Given the description of an element on the screen output the (x, y) to click on. 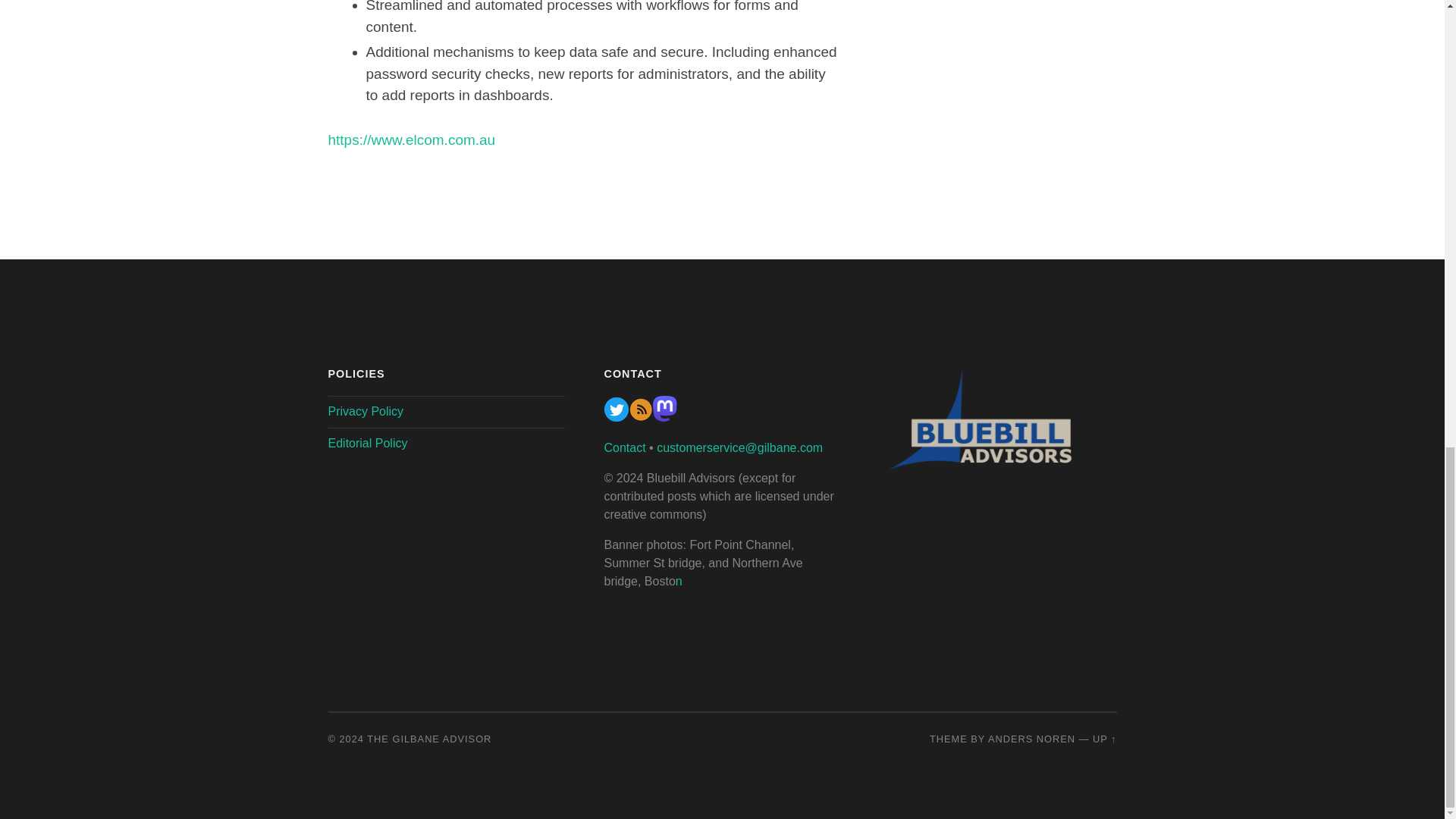
Gilbane twitter feed (615, 417)
To the top (1104, 738)
Mastadon-logo-purple-32x34 (664, 417)
